Given the description of an element on the screen output the (x, y) to click on. 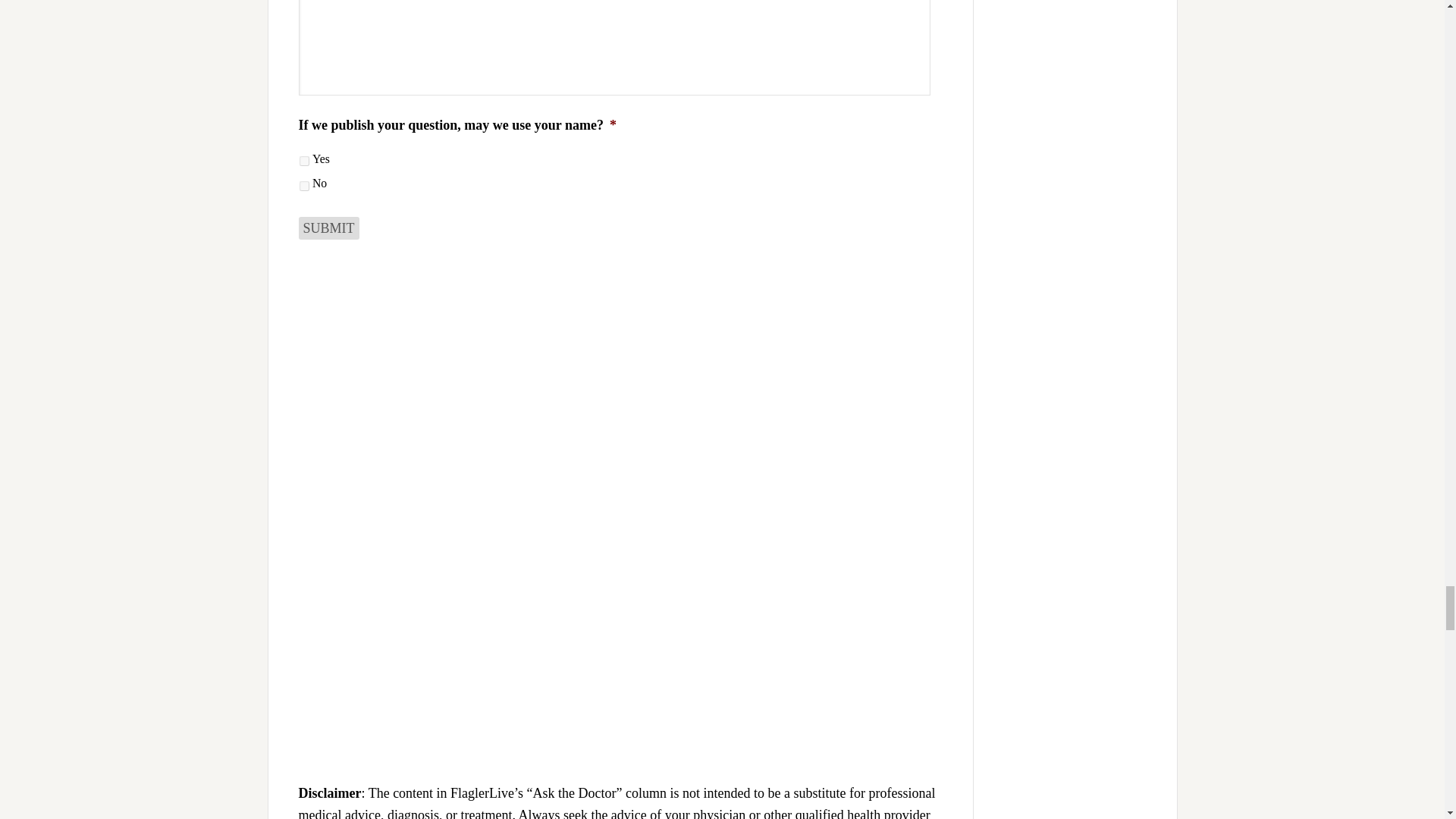
Yes (303, 161)
Submit (328, 228)
No (303, 185)
